Given the description of an element on the screen output the (x, y) to click on. 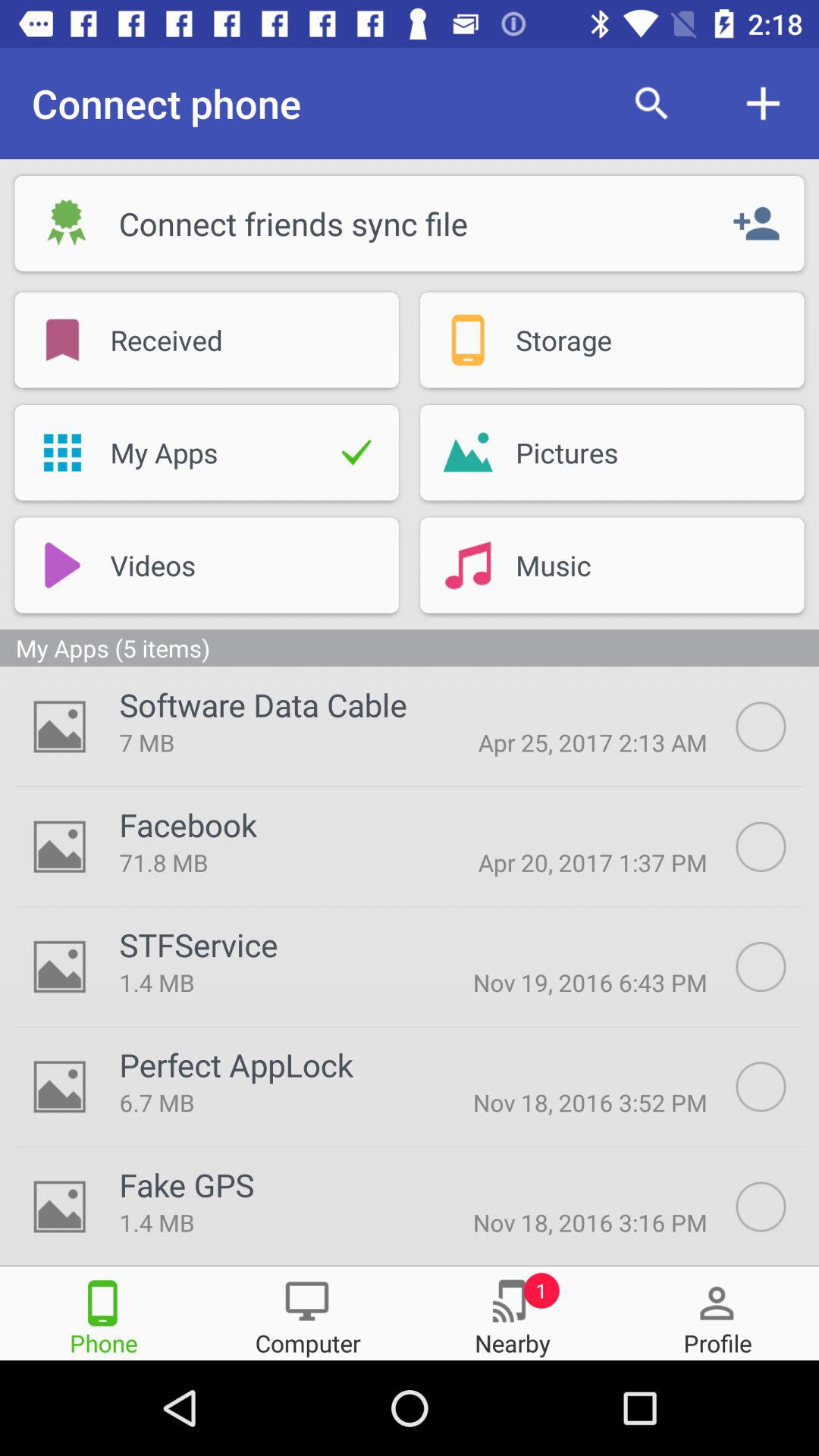
toggle autosync option (777, 846)
